Given the description of an element on the screen output the (x, y) to click on. 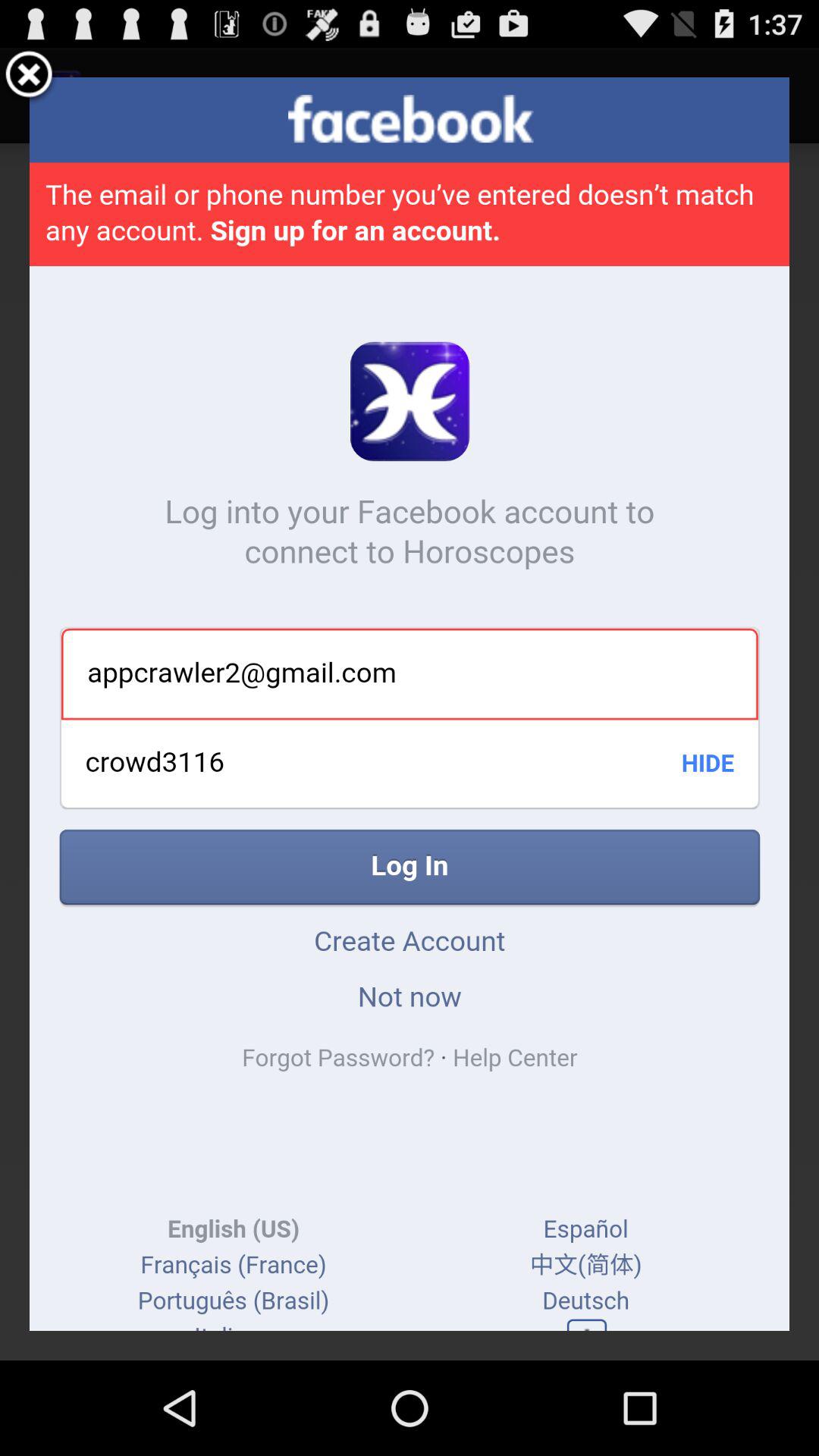
turn off icon at the center (409, 703)
